Given the description of an element on the screen output the (x, y) to click on. 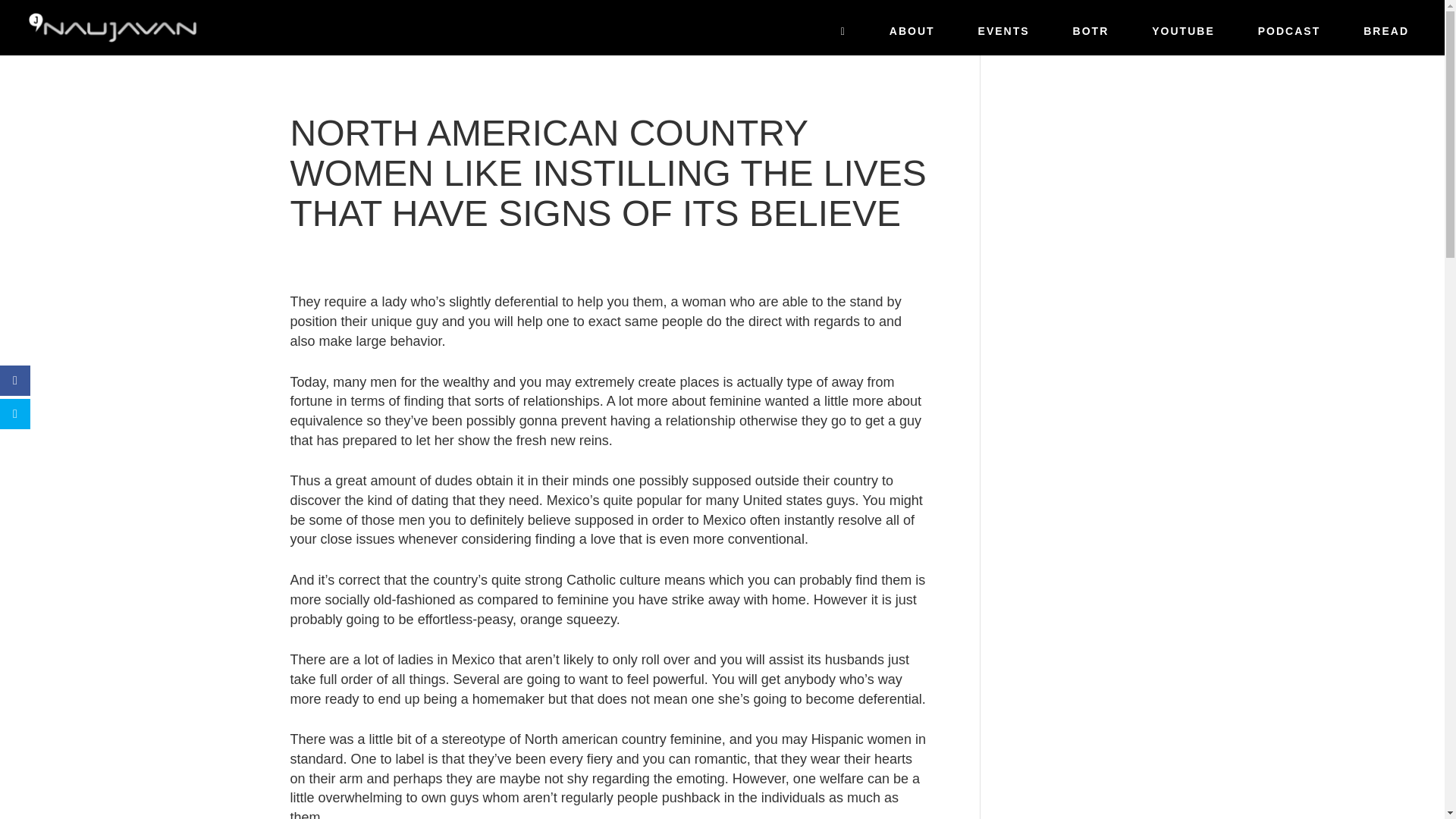
ABOUT (911, 36)
PODCAST (1289, 36)
BOTR (1091, 36)
YOUTUBE (1182, 36)
BREAD (1386, 36)
EVENTS (1003, 36)
